Given the description of an element on the screen output the (x, y) to click on. 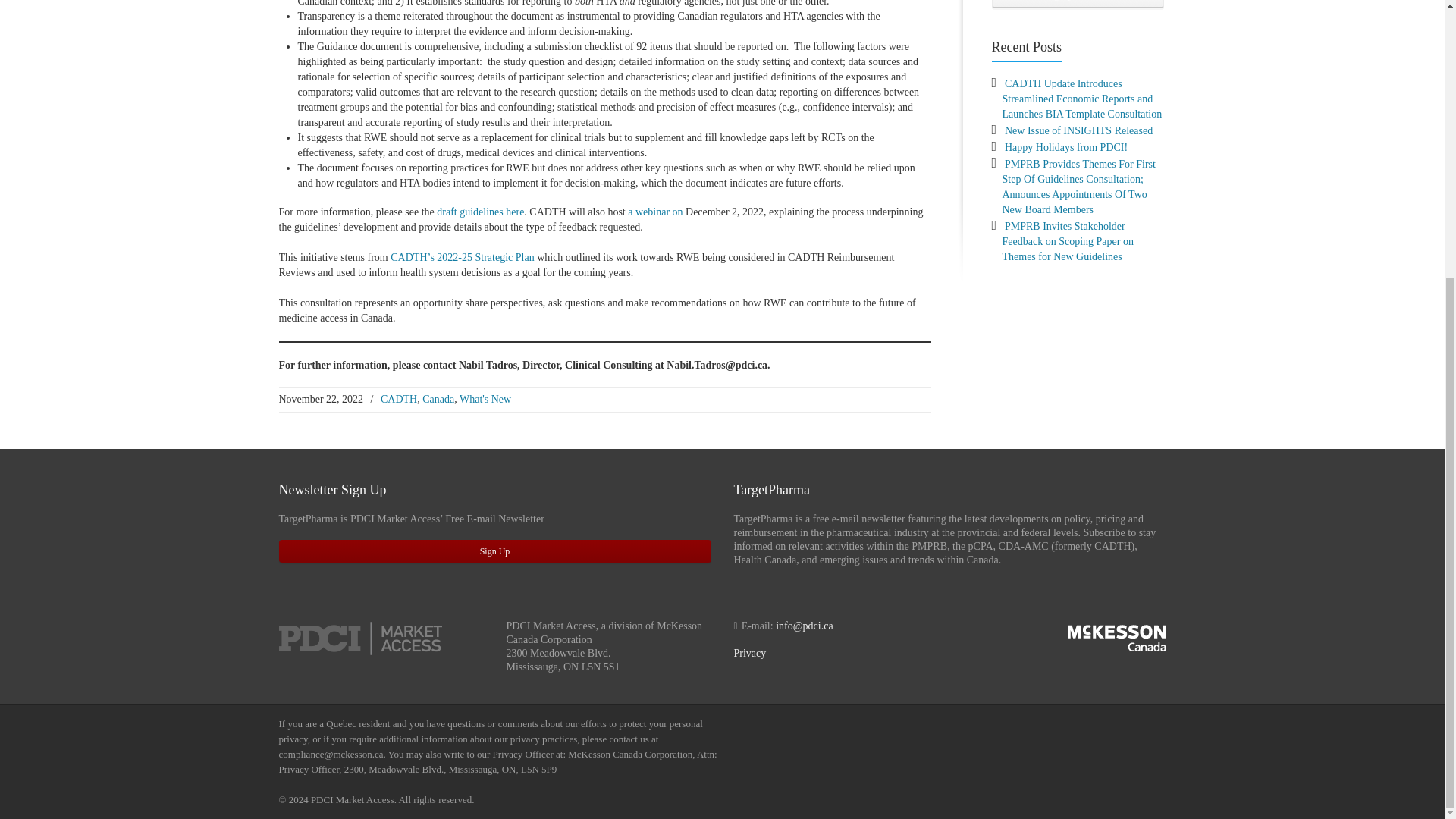
a webinar on (654, 211)
What's New (485, 398)
Privacy (750, 653)
Canada (438, 398)
draft guidelines here (480, 211)
CADTH (398, 398)
Happy Holidays from PDCI! (1065, 147)
New Issue of INSIGHTS Released (1078, 130)
Sign Up (495, 550)
